Given the description of an element on the screen output the (x, y) to click on. 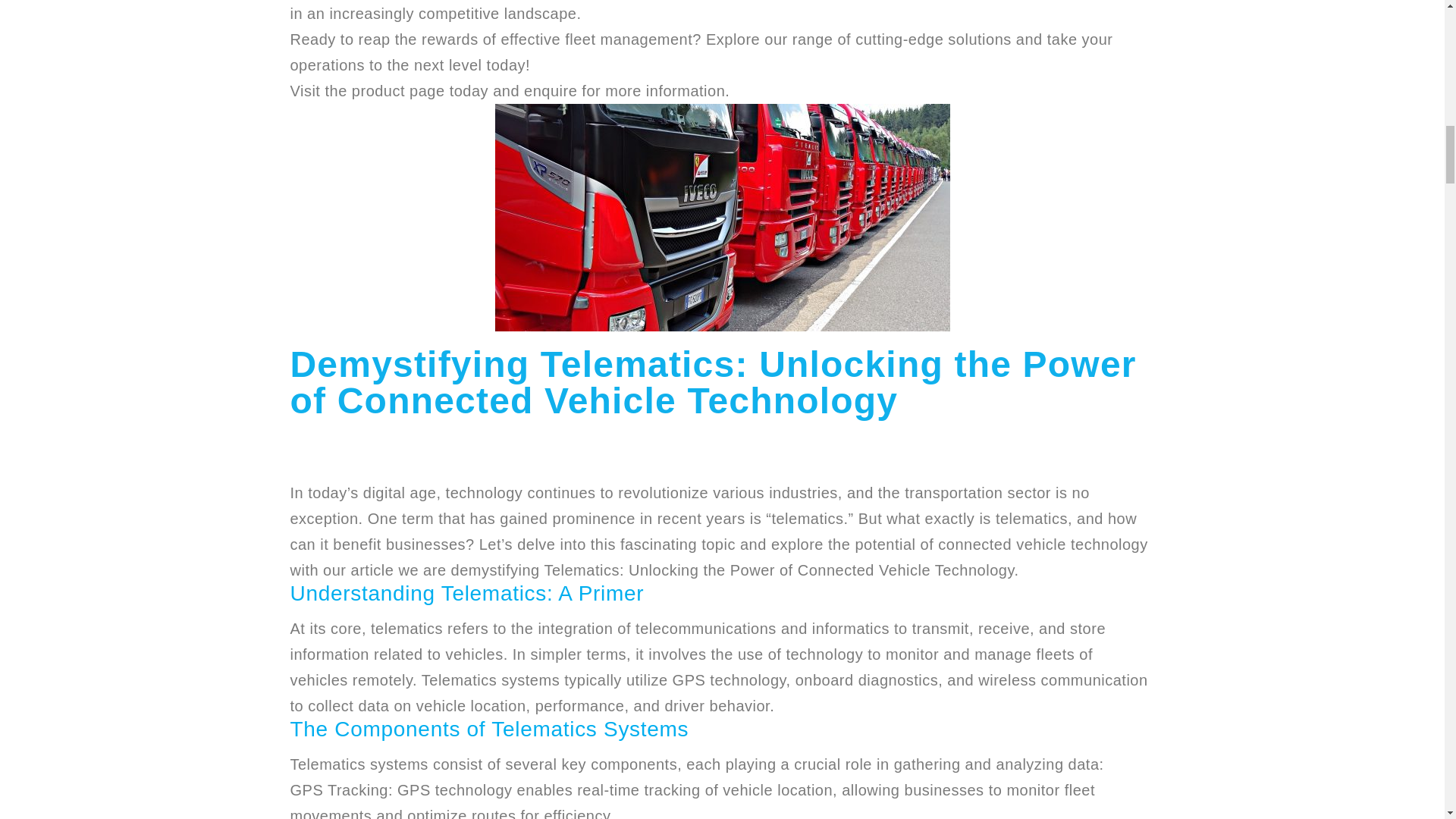
product page (398, 90)
